Given the description of an element on the screen output the (x, y) to click on. 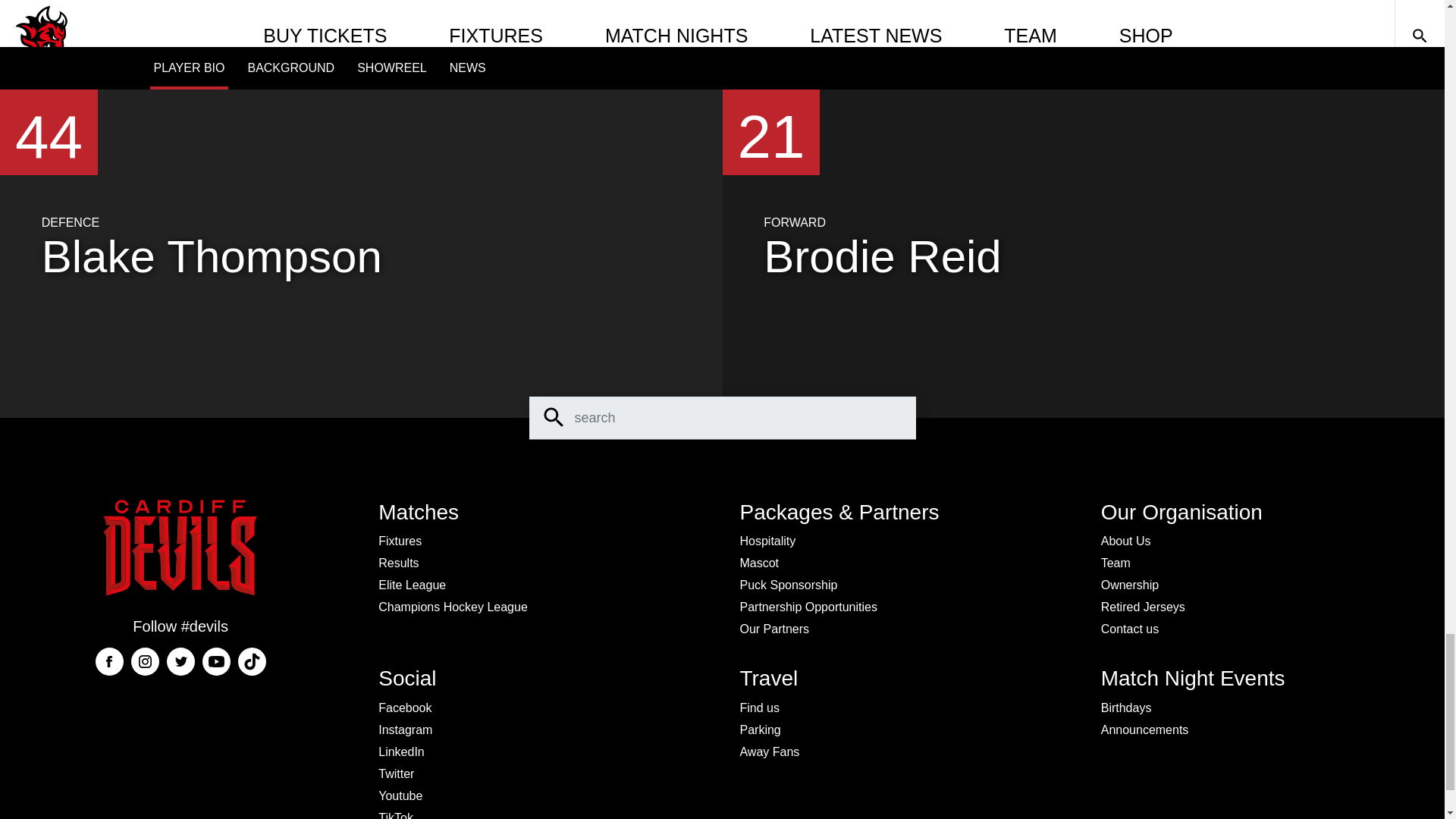
mosey-cele.jpg (430, 13)
Results (398, 563)
Read more (451, 2)
Fixtures (400, 540)
